Given the description of an element on the screen output the (x, y) to click on. 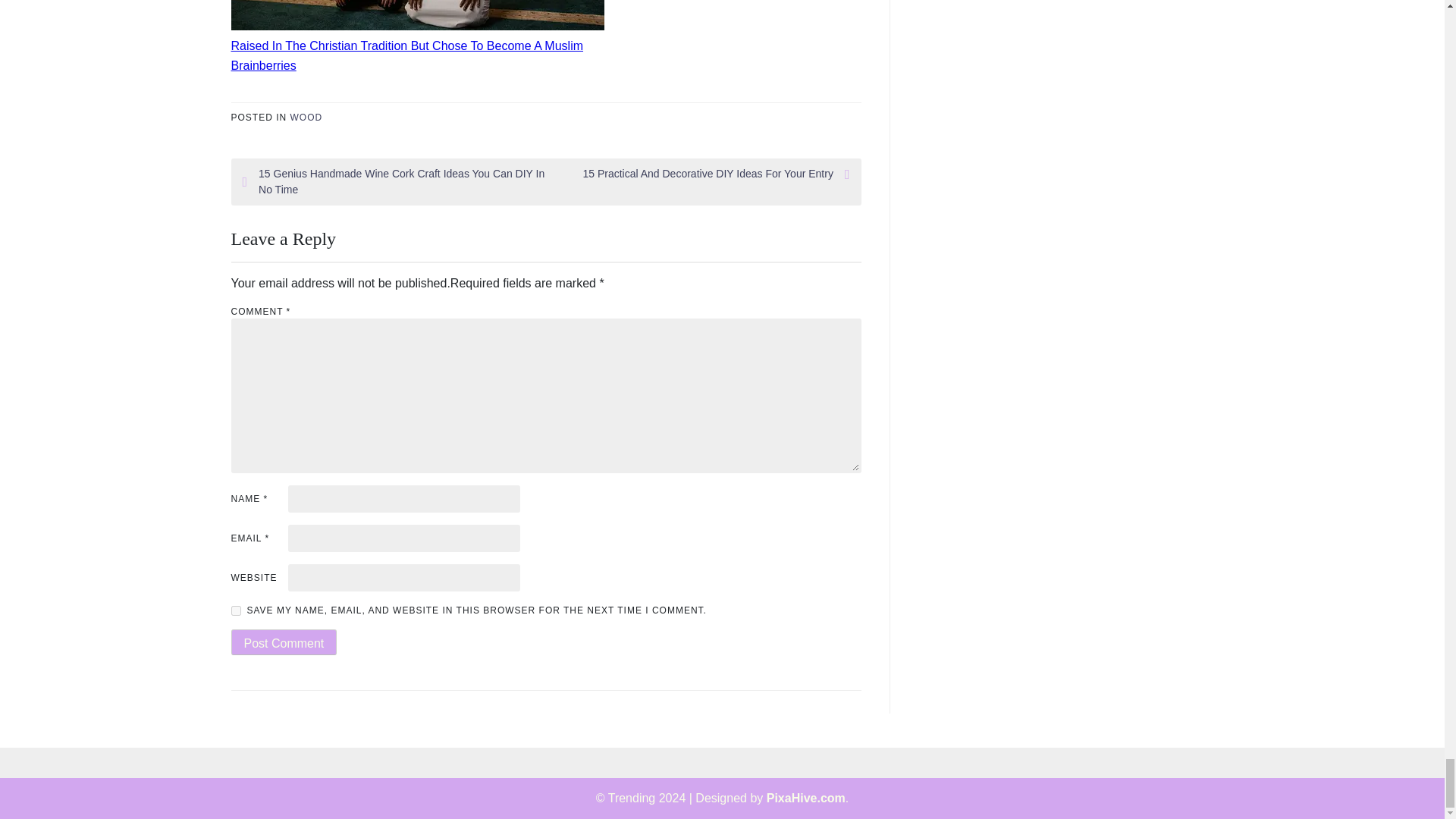
15 Practical And Decorative DIY Ideas For Your Entry (698, 173)
Post Comment (283, 642)
yes (235, 610)
WOOD (306, 117)
Post Comment (283, 642)
